Given the description of an element on the screen output the (x, y) to click on. 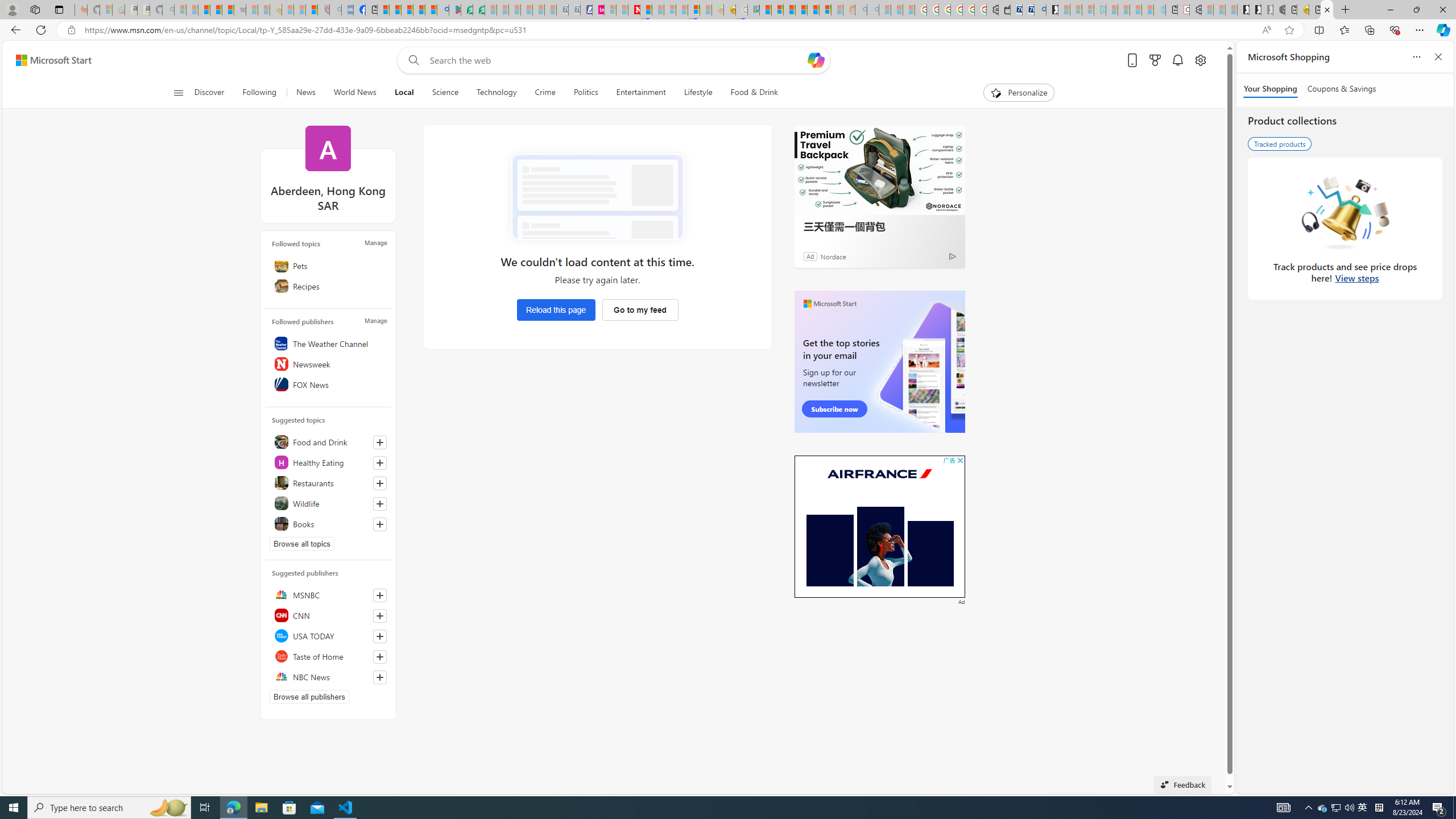
Offline games - Android Apps on Google Play (454, 9)
Follow this source (379, 676)
Food & Drink (753, 92)
Notifications (1177, 60)
Taste of Home (327, 656)
Jobs - lastminute.com Investor Portal (598, 9)
Skip to footer (46, 59)
